Given the description of an element on the screen output the (x, y) to click on. 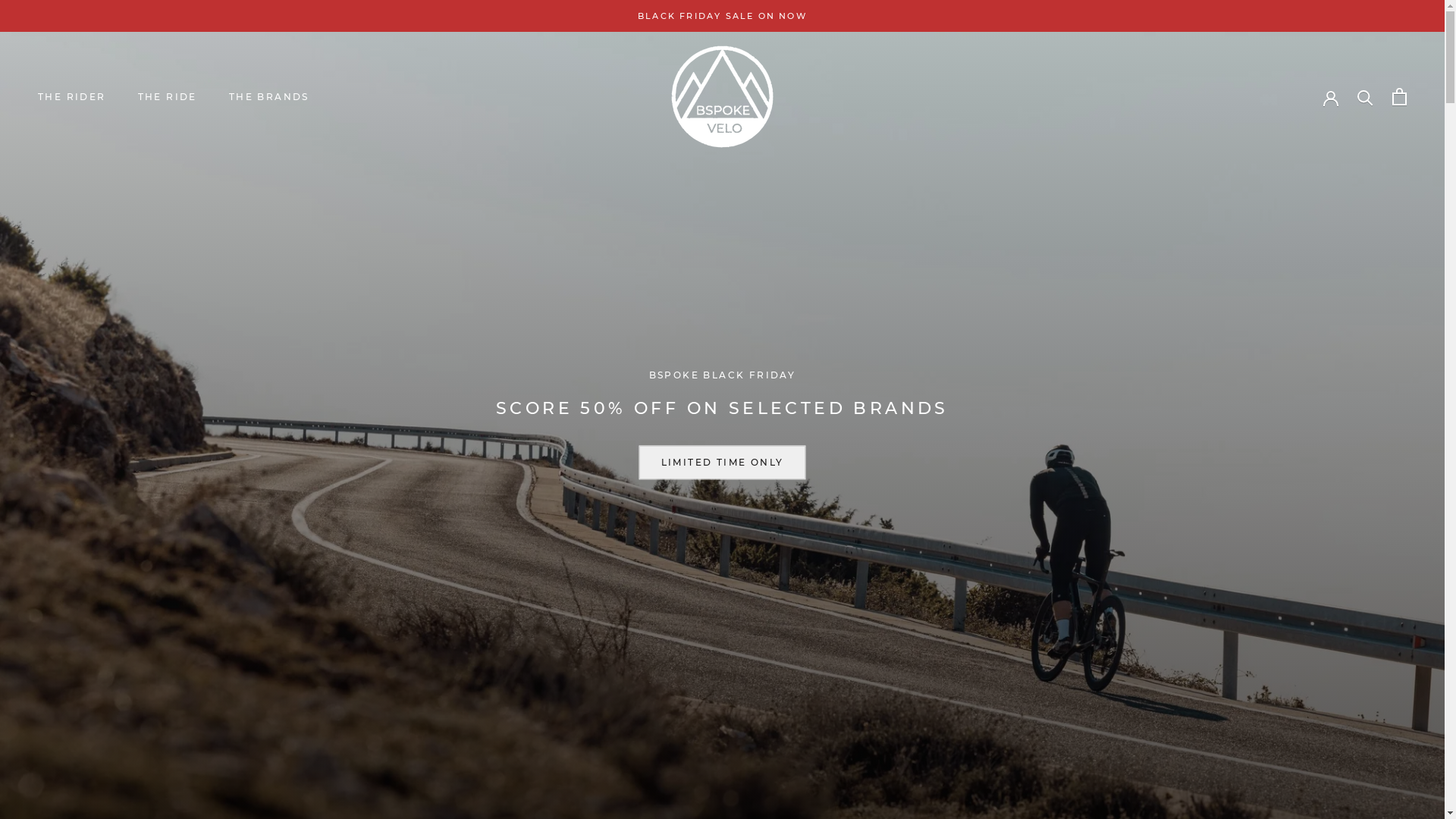
LIMITED TIME ONLY Element type: text (722, 462)
THE BRANDS
THE BRANDS Element type: text (269, 96)
BLACK FRIDAY SALE ON NOW Element type: text (721, 15)
THE RIDER
THE RIDER Element type: text (71, 96)
THE RIDE
THE RIDE Element type: text (167, 96)
